Given the description of an element on the screen output the (x, y) to click on. 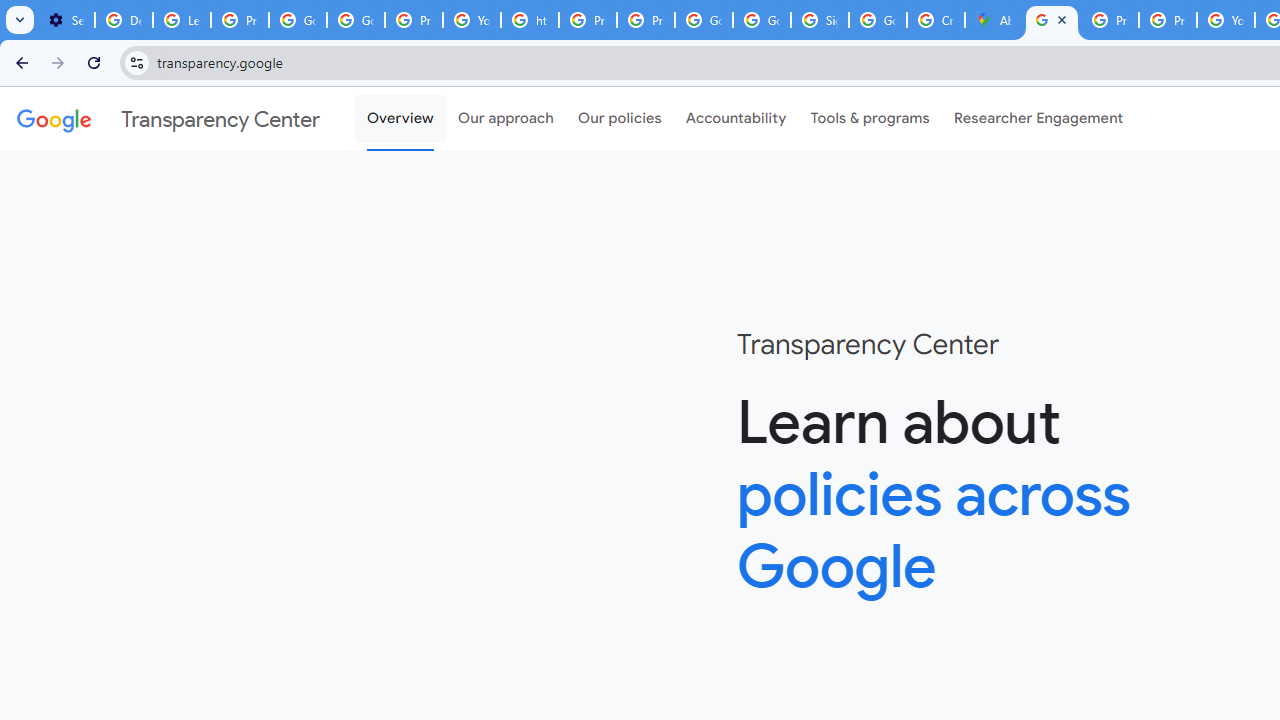
Create your Google Account (936, 20)
Tools & programs (869, 119)
Privacy Help Center - Policies Help (1167, 20)
Researcher Engagement (1038, 119)
Our approach (506, 119)
Accountability (735, 119)
Delete photos & videos - Computer - Google Photos Help (123, 20)
Privacy Help Center - Policies Help (587, 20)
